Given the description of an element on the screen output the (x, y) to click on. 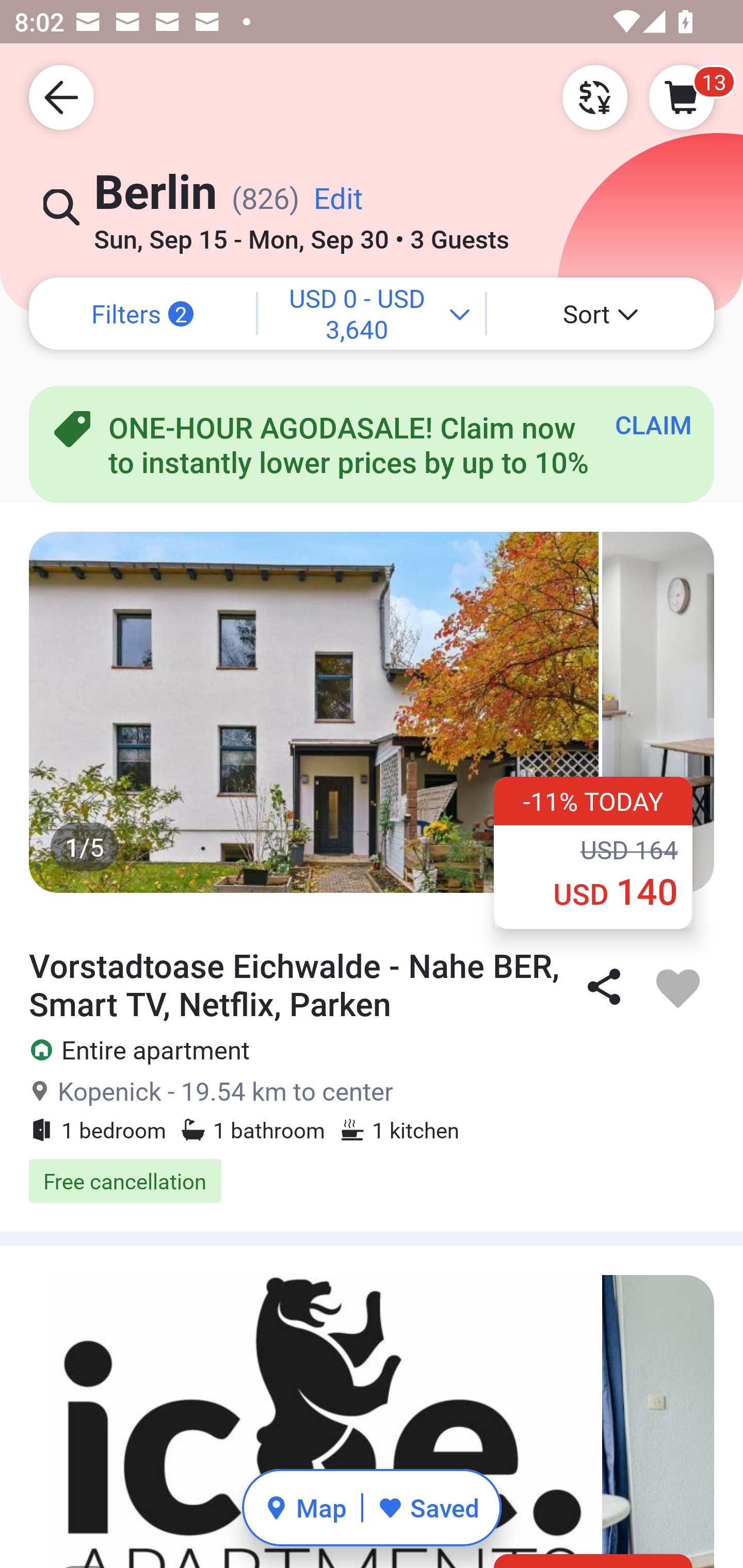
Filters 2 (141, 313)
⁦USD 0⁩ - ⁦USD 3,640⁩ (371, 313)
Sort (600, 313)
CLAIM (653, 424)
1/5 (371, 711)
-11% TODAY ‪USD 164 ‪USD 140 (593, 852)
Free cancellation (371, 1181)
Map (305, 1507)
Saved (428, 1507)
